Given the description of an element on the screen output the (x, y) to click on. 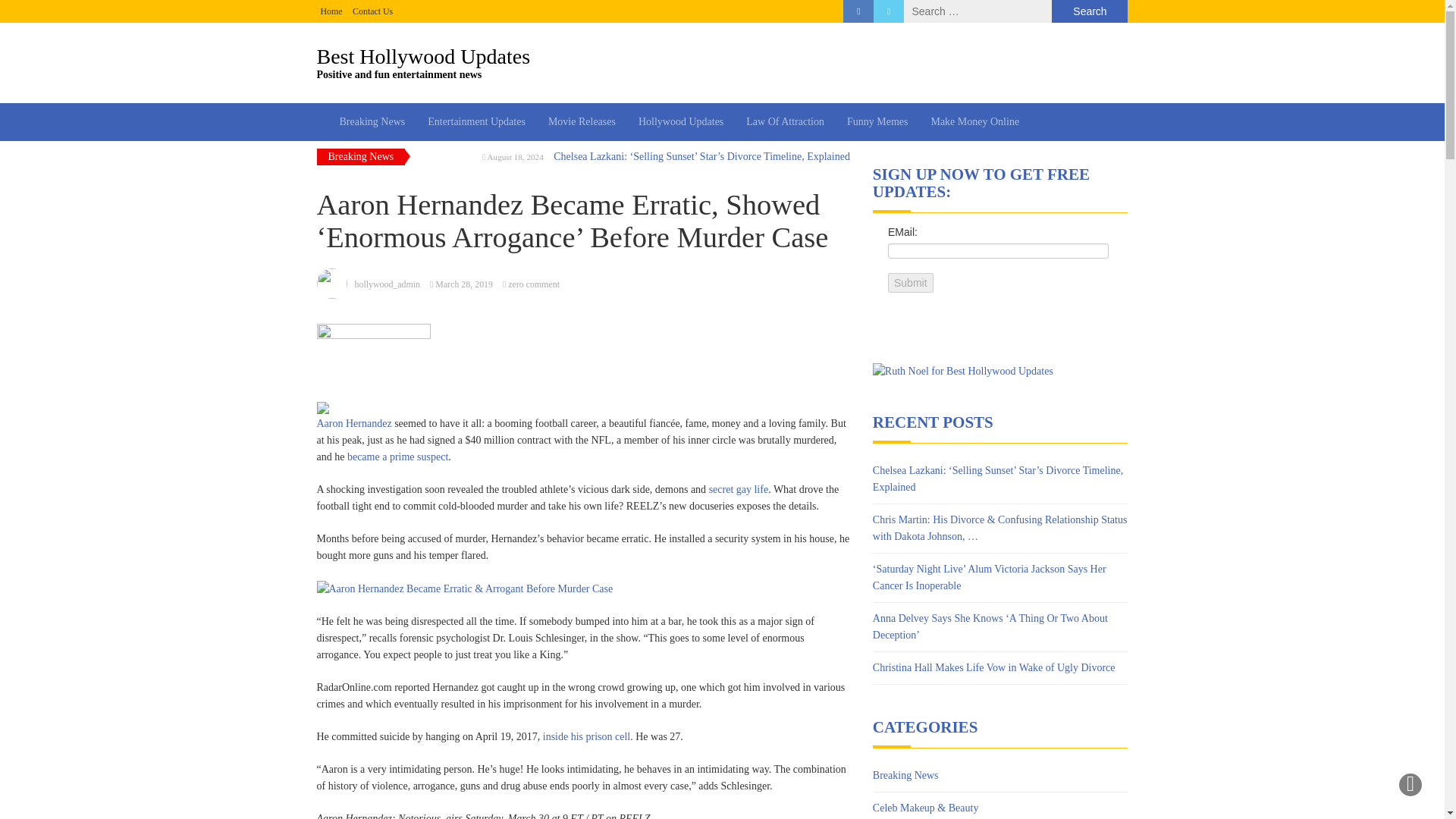
Search (1088, 11)
Subscription SendPress (1000, 273)
Law Of Attraction (785, 121)
Home (331, 10)
Law Of Attraction (785, 121)
Entertainment Updates (476, 121)
inside his prison cell (586, 736)
Entertainment Updates (476, 121)
Make Money Online (722, 62)
